Given the description of an element on the screen output the (x, y) to click on. 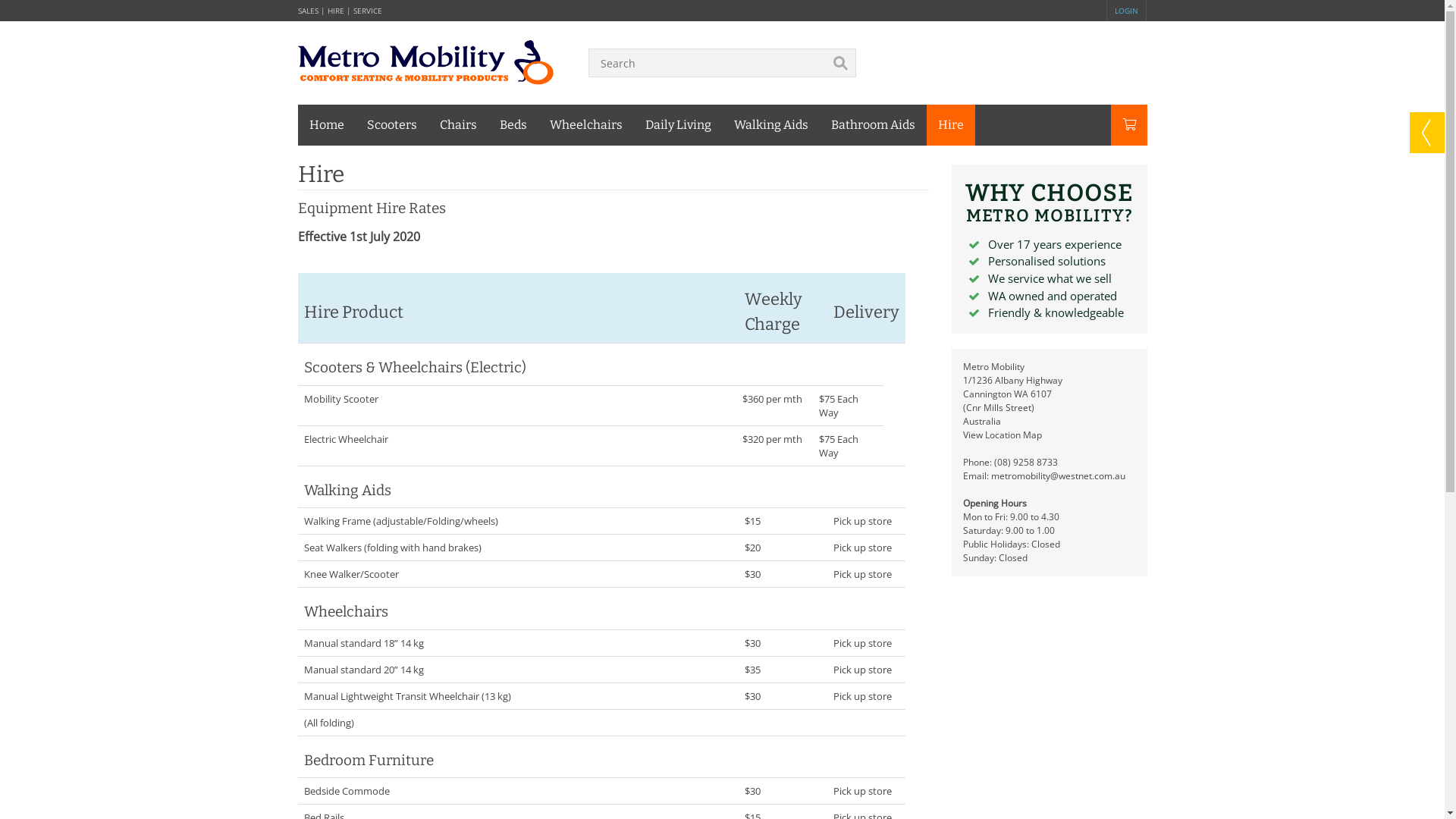
metromobility@westnet.com.au Element type: text (1058, 475)
Walking Aids Element type: text (770, 124)
Metro Mobility Element type: hover (426, 61)
LOGIN Element type: text (1126, 10)
View Location Map Element type: text (1002, 434)
Wheelchairs Element type: text (585, 124)
Home Element type: text (325, 124)
Scooters Element type: text (390, 124)
Bathroom Aids Element type: text (872, 124)
Chairs Element type: text (457, 124)
Hire Element type: text (950, 124)
Beds Element type: text (513, 124)
Daily Living Element type: text (677, 124)
